Given the description of an element on the screen output the (x, y) to click on. 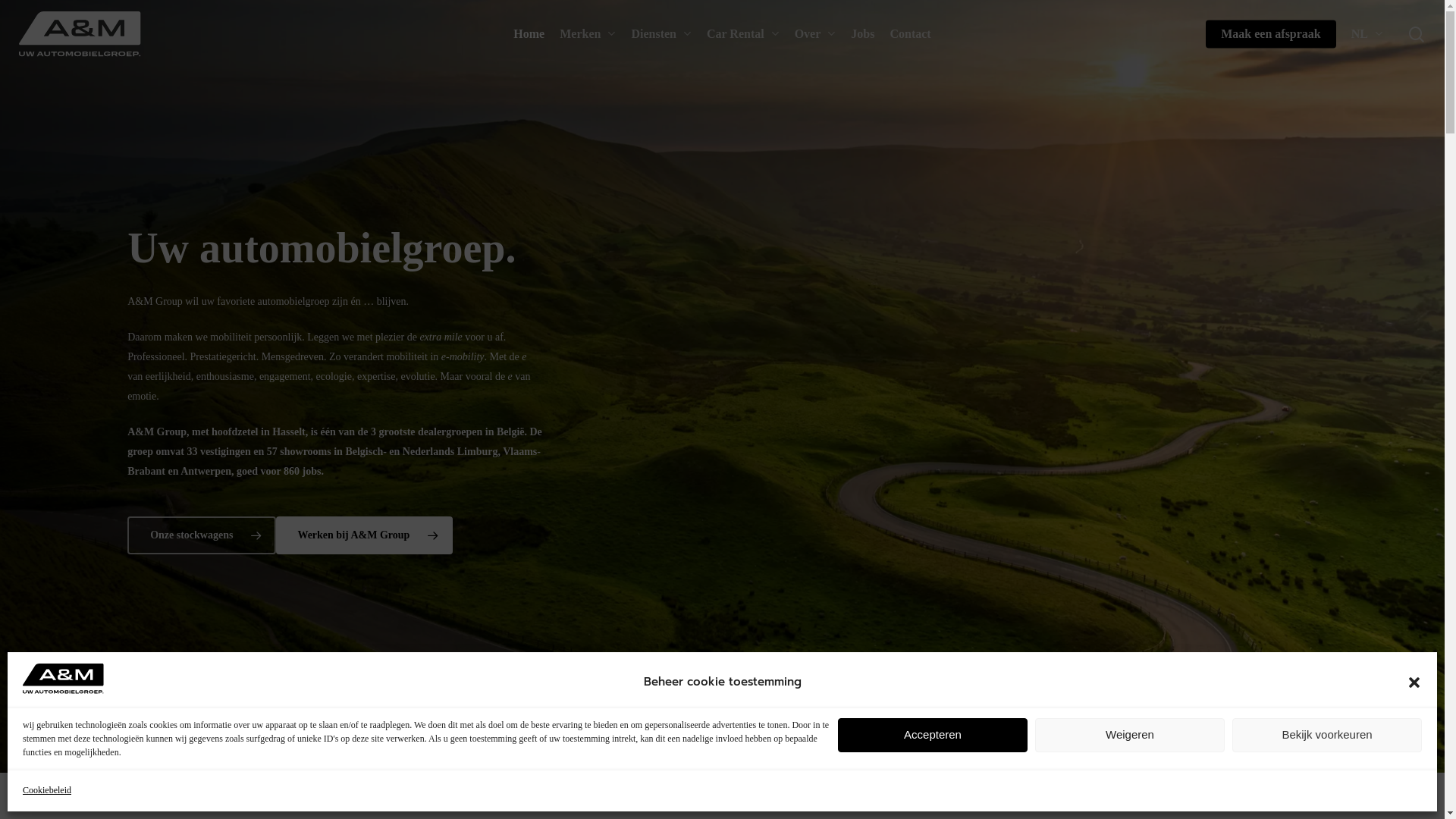
search Element type: text (1416, 33)
Merken Element type: text (587, 33)
Over Element type: text (815, 33)
Home Element type: text (528, 33)
Diensten Element type: text (661, 33)
Accepteren Element type: text (932, 735)
Contact Element type: text (909, 33)
Weigeren Element type: text (1129, 735)
Car Rental Element type: text (743, 33)
NL Element type: text (1366, 33)
Werken bij A&M Group Element type: text (364, 535)
Jobs Element type: text (862, 33)
Cookiebeleid Element type: text (46, 790)
Onze stockwagens Element type: text (201, 535)
Maak een afspraak Element type: text (1270, 33)
Bekijk voorkeuren Element type: text (1326, 735)
